Given the description of an element on the screen output the (x, y) to click on. 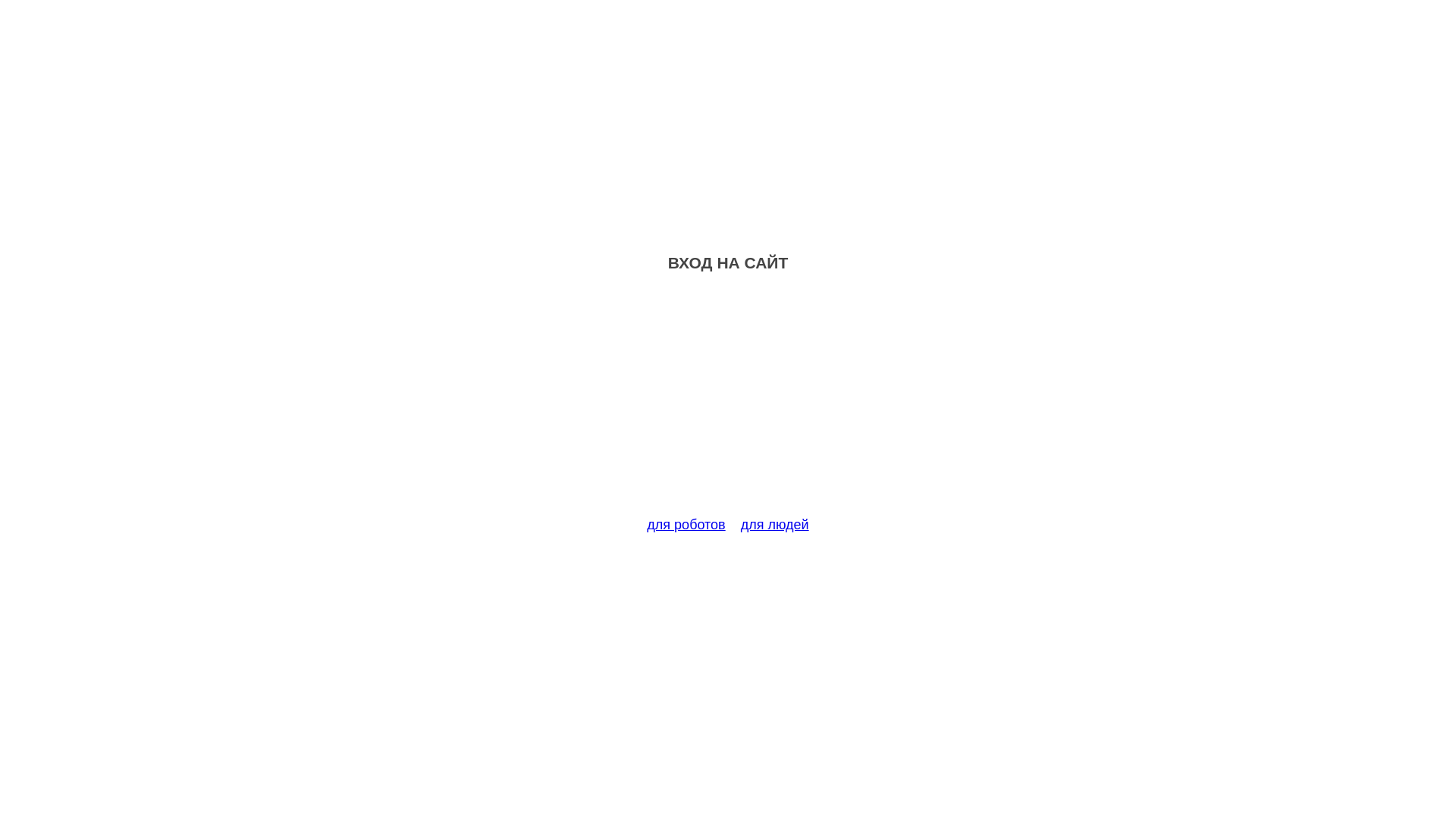
Advertisement Element type: hover (727, 403)
